Given the description of an element on the screen output the (x, y) to click on. 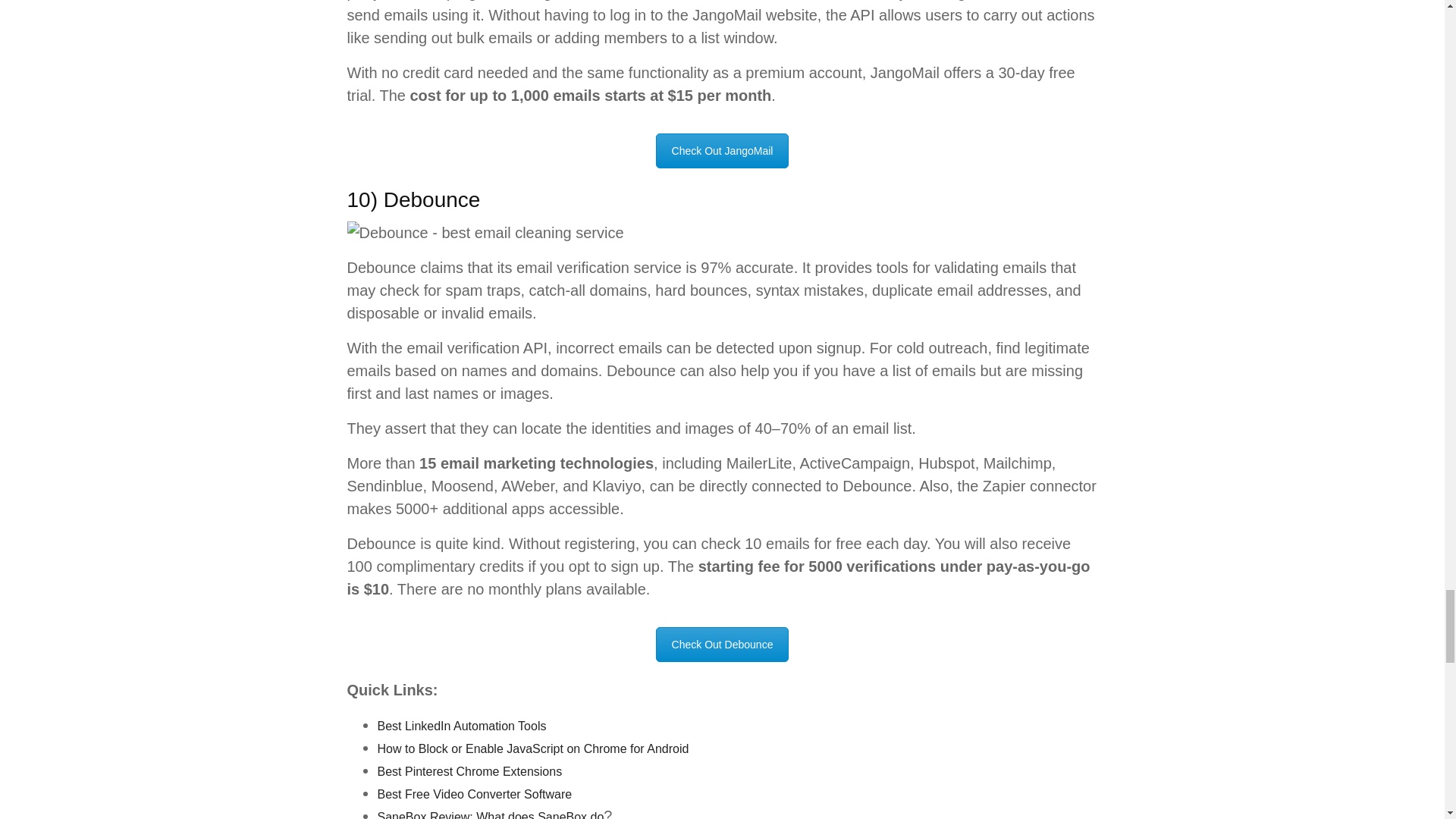
Best Pinterest Chrome Extensions (469, 771)
How to Block or Enable JavaScript on Chrome for Android (532, 748)
Check Out Debounce (722, 644)
Best LinkedIn Automation Tools (462, 725)
Check Out JangoMail (722, 150)
Best Free Video Converter Software (474, 793)
SaneBox Review: What does SaneBox do (490, 814)
